Given the description of an element on the screen output the (x, y) to click on. 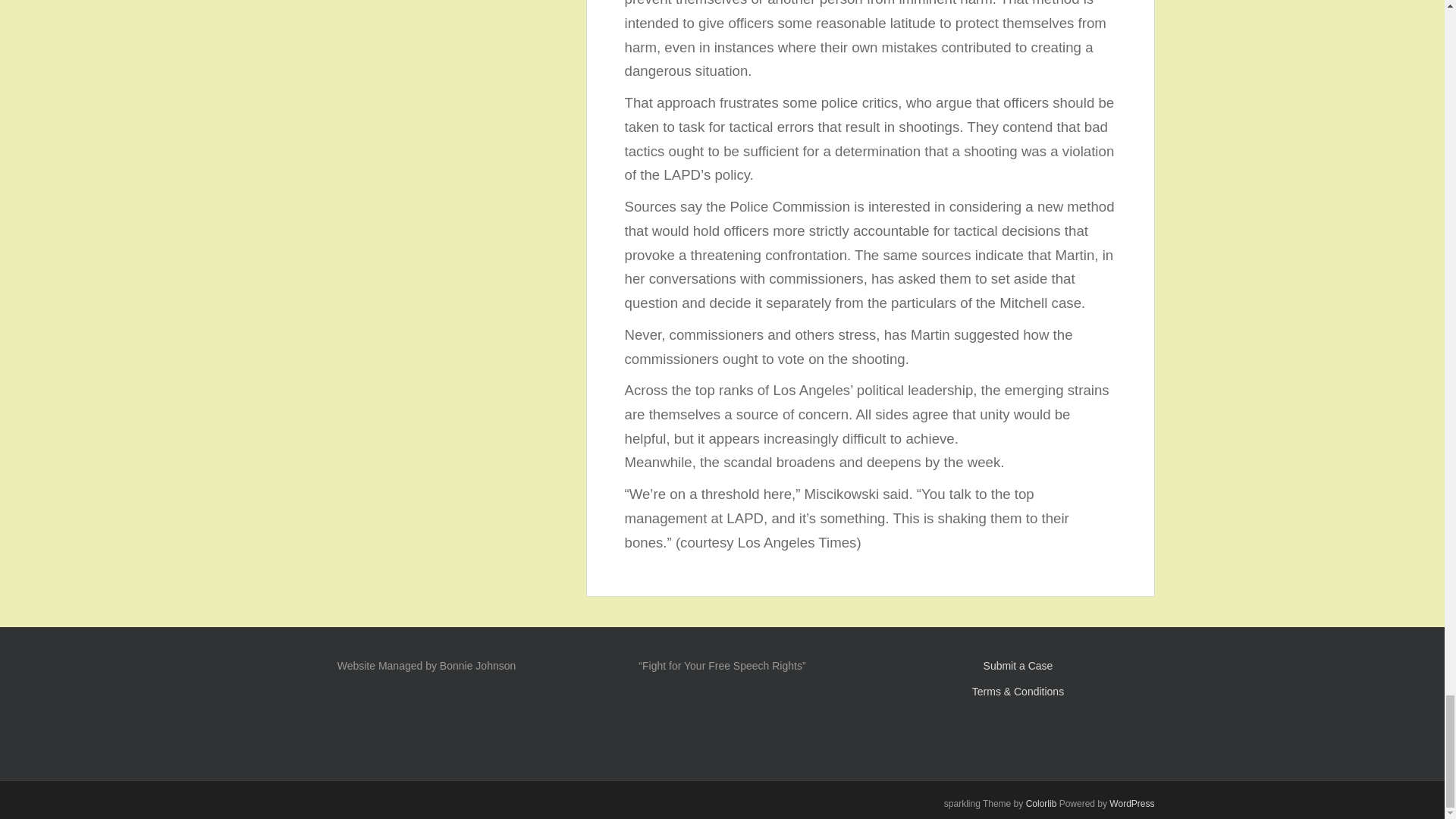
Submit a Case (1018, 665)
Colorlib (1041, 803)
WordPress (1131, 803)
